Given the description of an element on the screen output the (x, y) to click on. 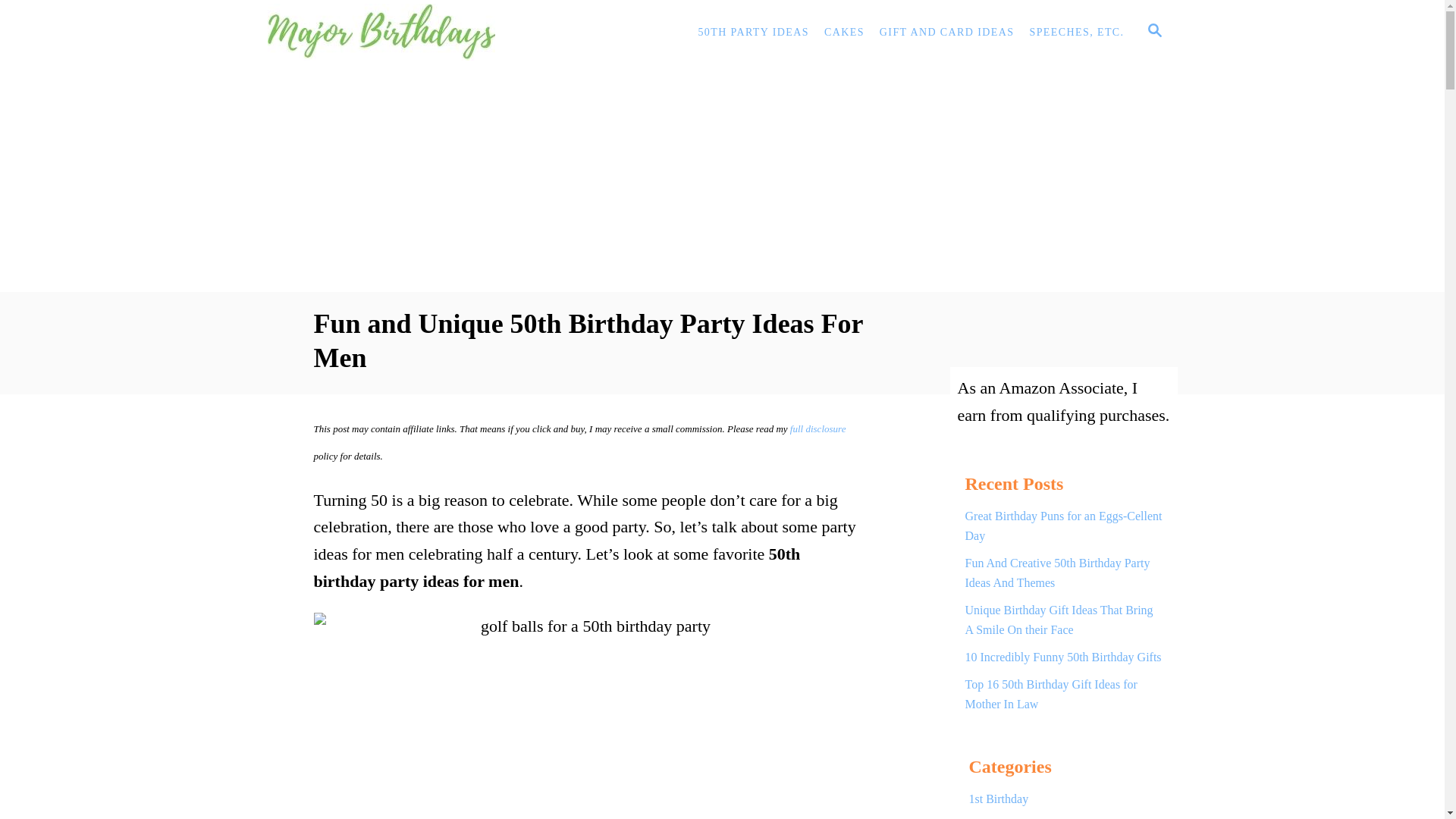
SEARCH (1153, 32)
10 Incredibly Funny 50th Birthday Gifts (1062, 656)
1st Birthday (1063, 799)
GIFT AND CARD IDEAS (947, 32)
Fun And Creative 50th Birthday Party Ideas And Themes (1062, 573)
50th Birthday (1063, 816)
50TH PARTY IDEAS (753, 32)
full disclosure (817, 428)
SPEECHES, ETC. (1076, 32)
CAKES (844, 32)
